Given the description of an element on the screen output the (x, y) to click on. 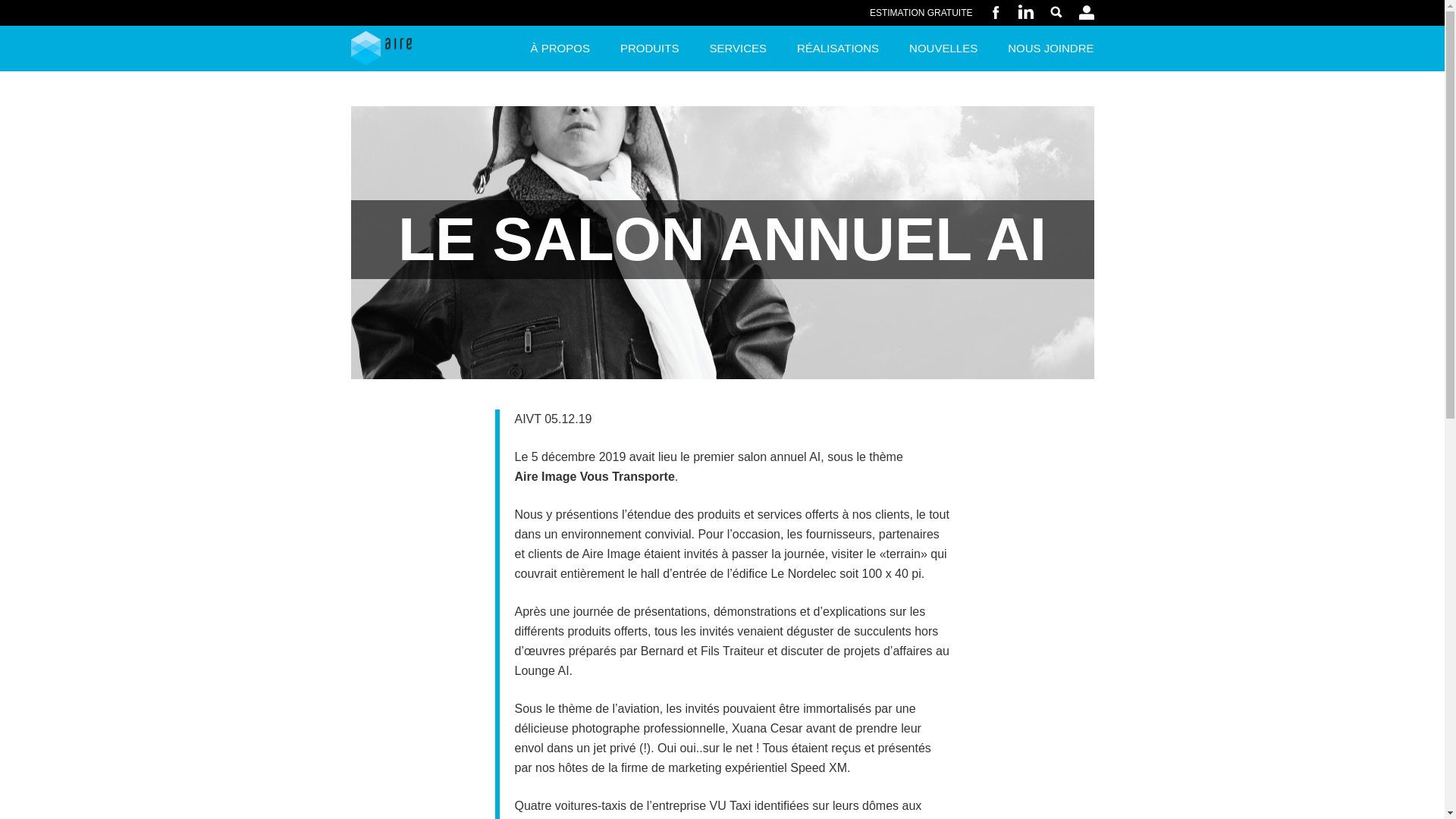
LINKEDIN Element type: text (1024, 11)
NOUS JOINDRE Element type: text (1042, 48)
NOUVELLES Element type: text (943, 48)
PRODUITS Element type: text (649, 48)
SERVICES Element type: text (737, 48)
Aire Image Element type: text (380, 48)
ESTIMATION GRATUITE Element type: text (920, 12)
FACEBOOK Element type: text (994, 11)
